Given the description of an element on the screen output the (x, y) to click on. 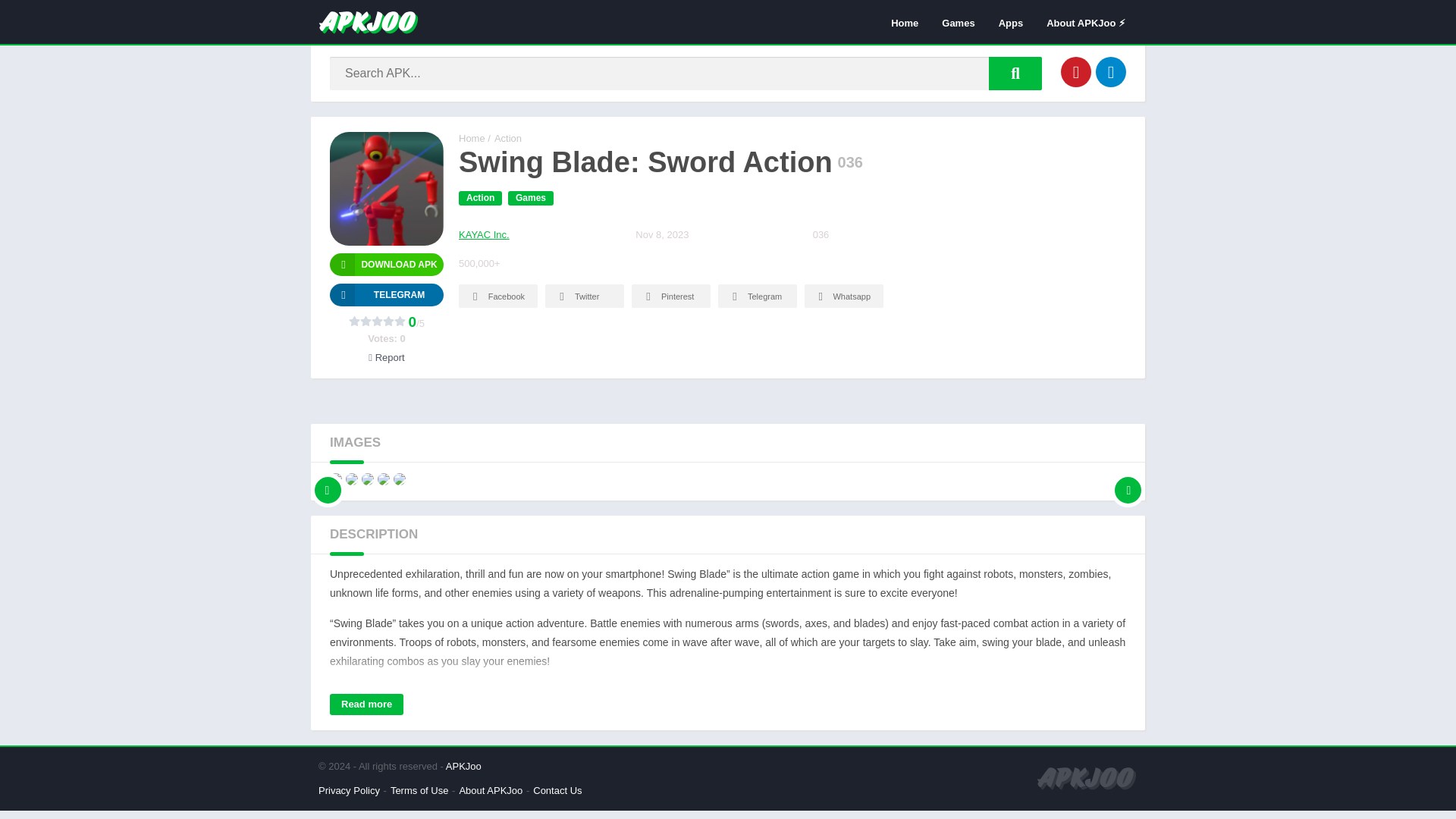
DOWNLOAD APK (387, 264)
About APKJoo (490, 790)
APKJoo (471, 138)
Search APK... (1015, 73)
Whatsapp (844, 295)
Home (471, 138)
Apps (1011, 22)
Privacy Policy (349, 790)
APKJoo (463, 766)
Contact Us (556, 790)
